Given the description of an element on the screen output the (x, y) to click on. 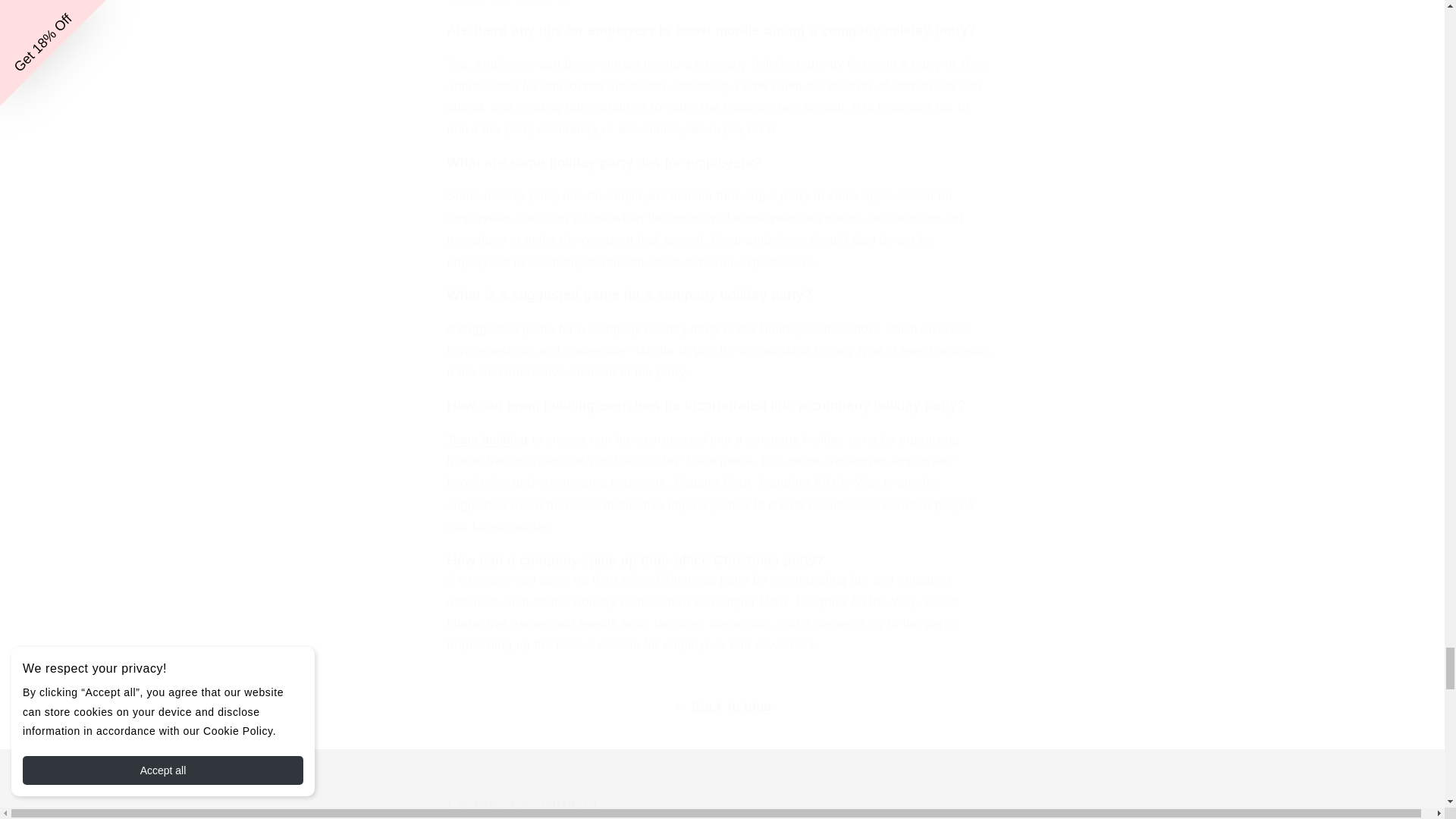
Team building (487, 439)
